Given the description of an element on the screen output the (x, y) to click on. 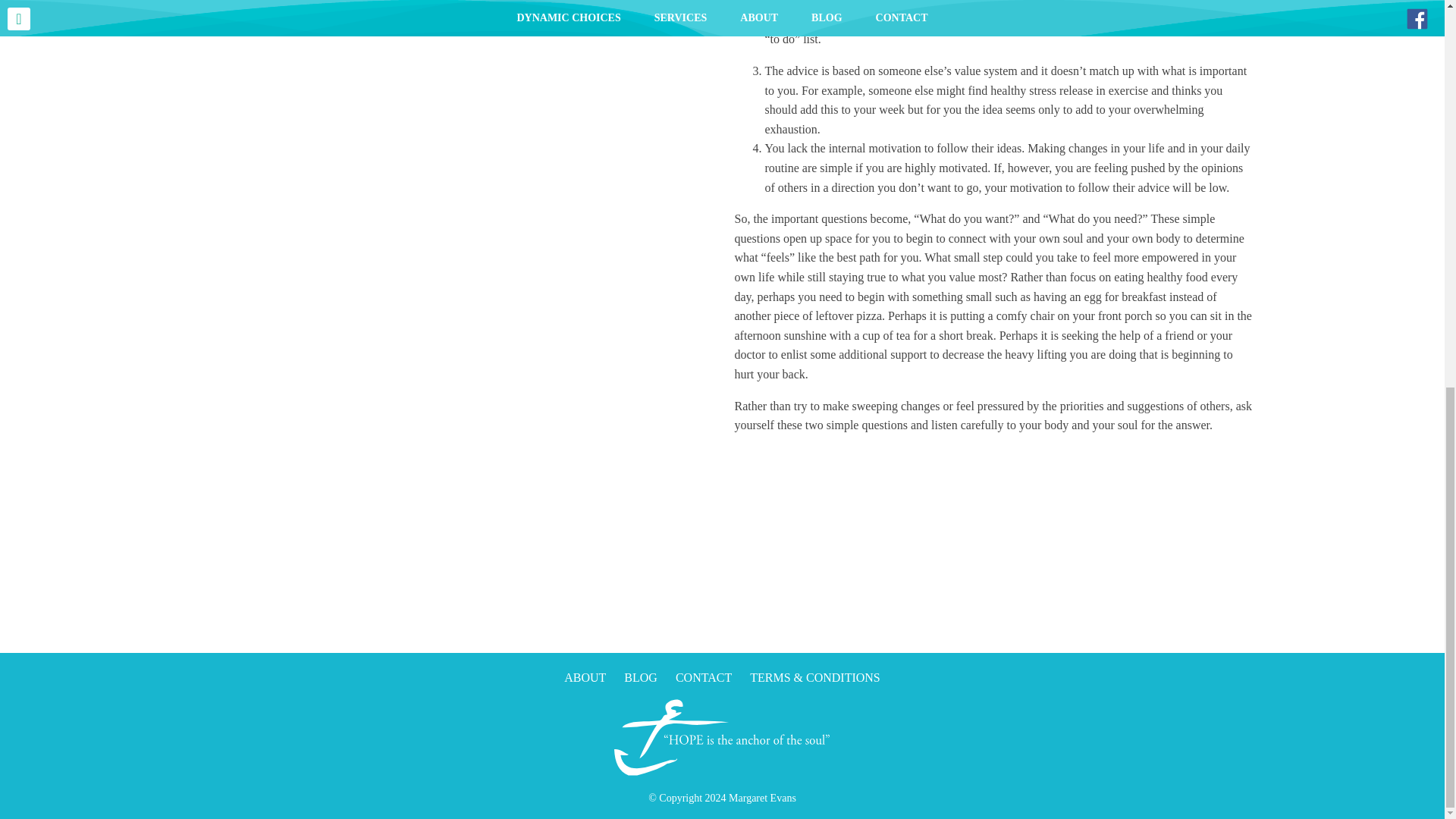
ABOUT (584, 676)
BLOG (641, 676)
CONTACT (703, 676)
